Given the description of an element on the screen output the (x, y) to click on. 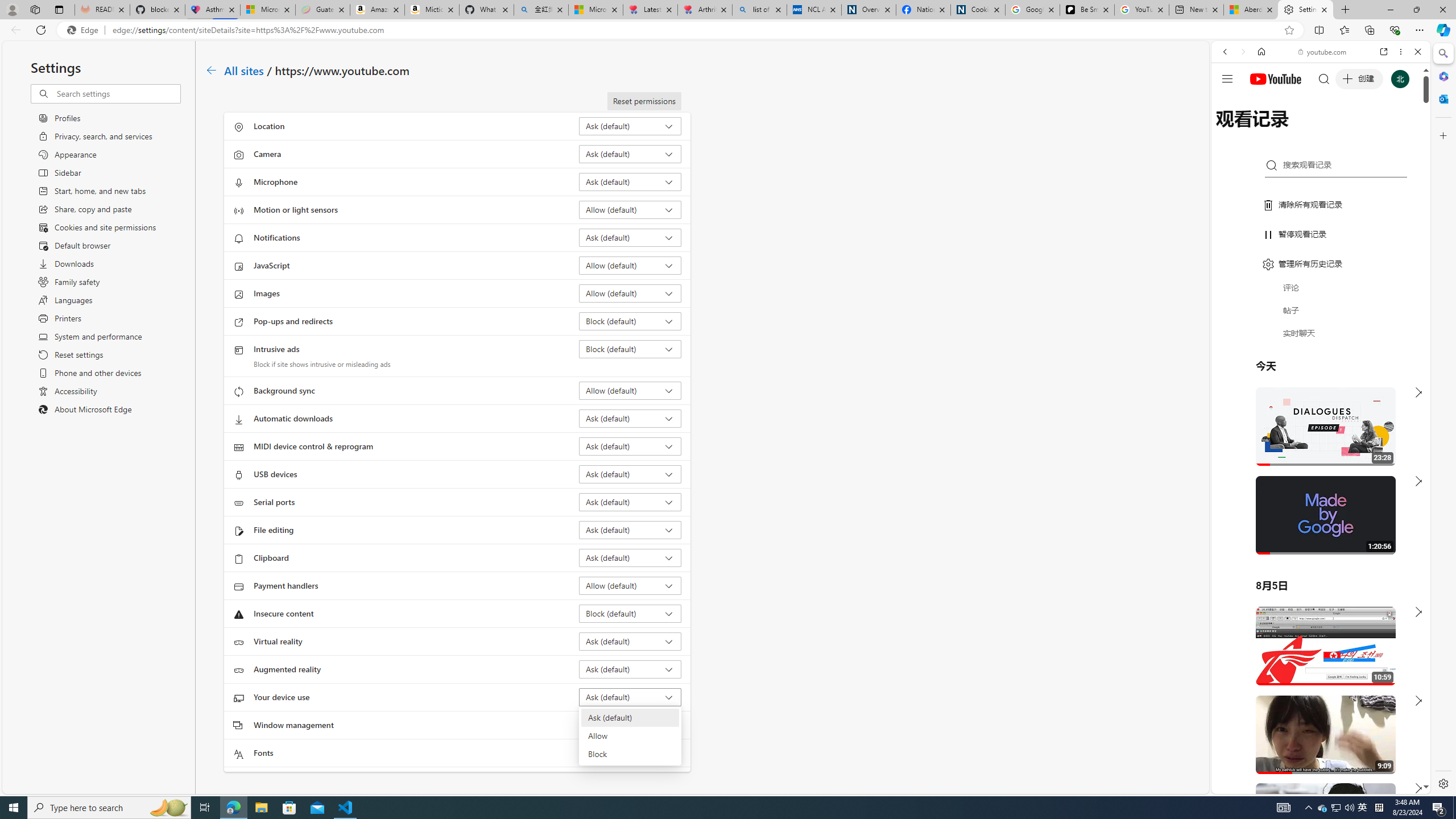
Insecure content Block (default) (630, 613)
JavaScript Allow (default) (630, 265)
Augmented reality Ask (default) (630, 669)
Background sync Allow (default) (630, 390)
USB devices Ask (default) (630, 474)
